Given the description of an element on the screen output the (x, y) to click on. 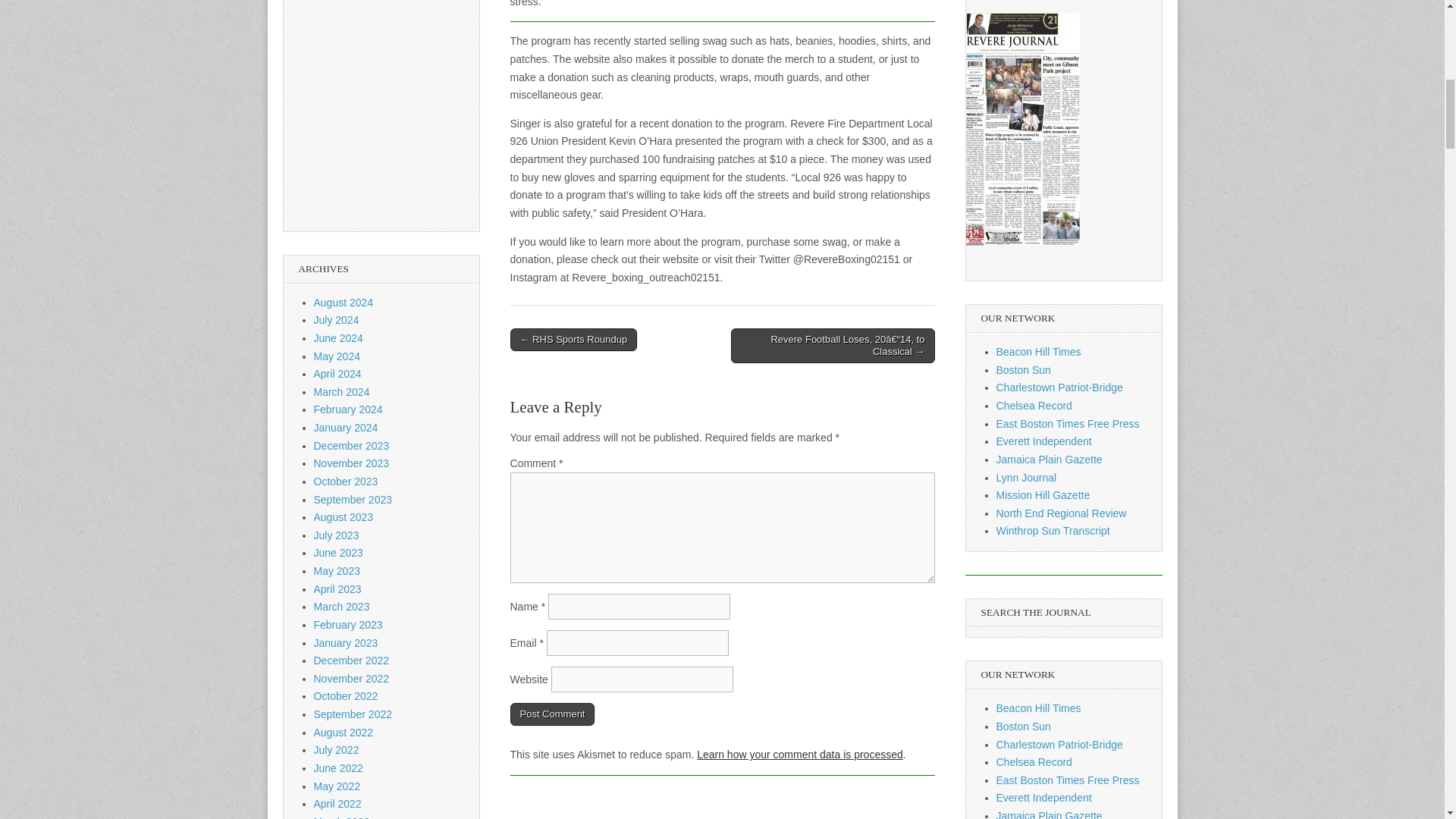
Everett Independent (1043, 440)
Winthrop Sun Transcript (1052, 530)
East Boston Times Free Press (1067, 423)
Lynn Journal (1026, 477)
Chelsea Record (1033, 761)
Post Comment (551, 713)
Chelsea Record (1033, 405)
Learn how your comment data is processed (799, 754)
East Boston Times Free Press (1067, 779)
Everett Independent (1043, 797)
